Given the description of an element on the screen output the (x, y) to click on. 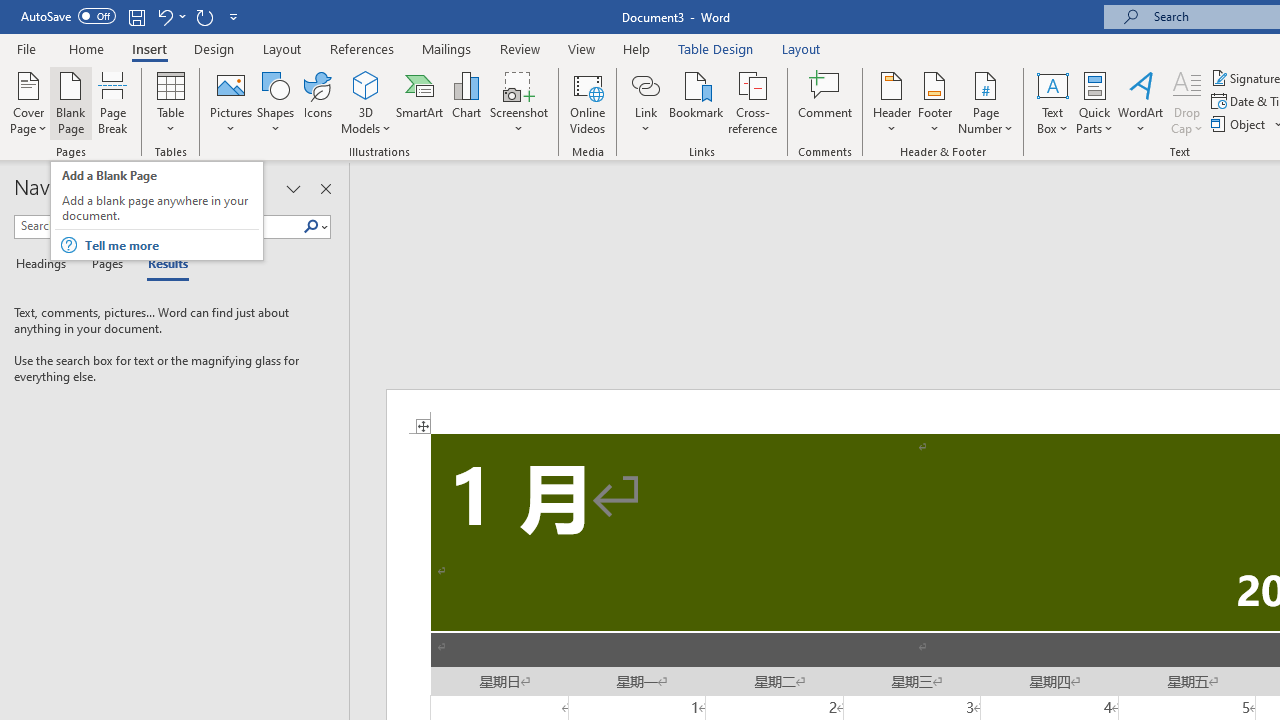
3D Models (366, 102)
Cover Page (28, 102)
Tell me more (170, 245)
Repeat Doc Close (204, 15)
Page Number (986, 102)
Shapes (275, 102)
Undo Apply Quick Style (164, 15)
